Given the description of an element on the screen output the (x, y) to click on. 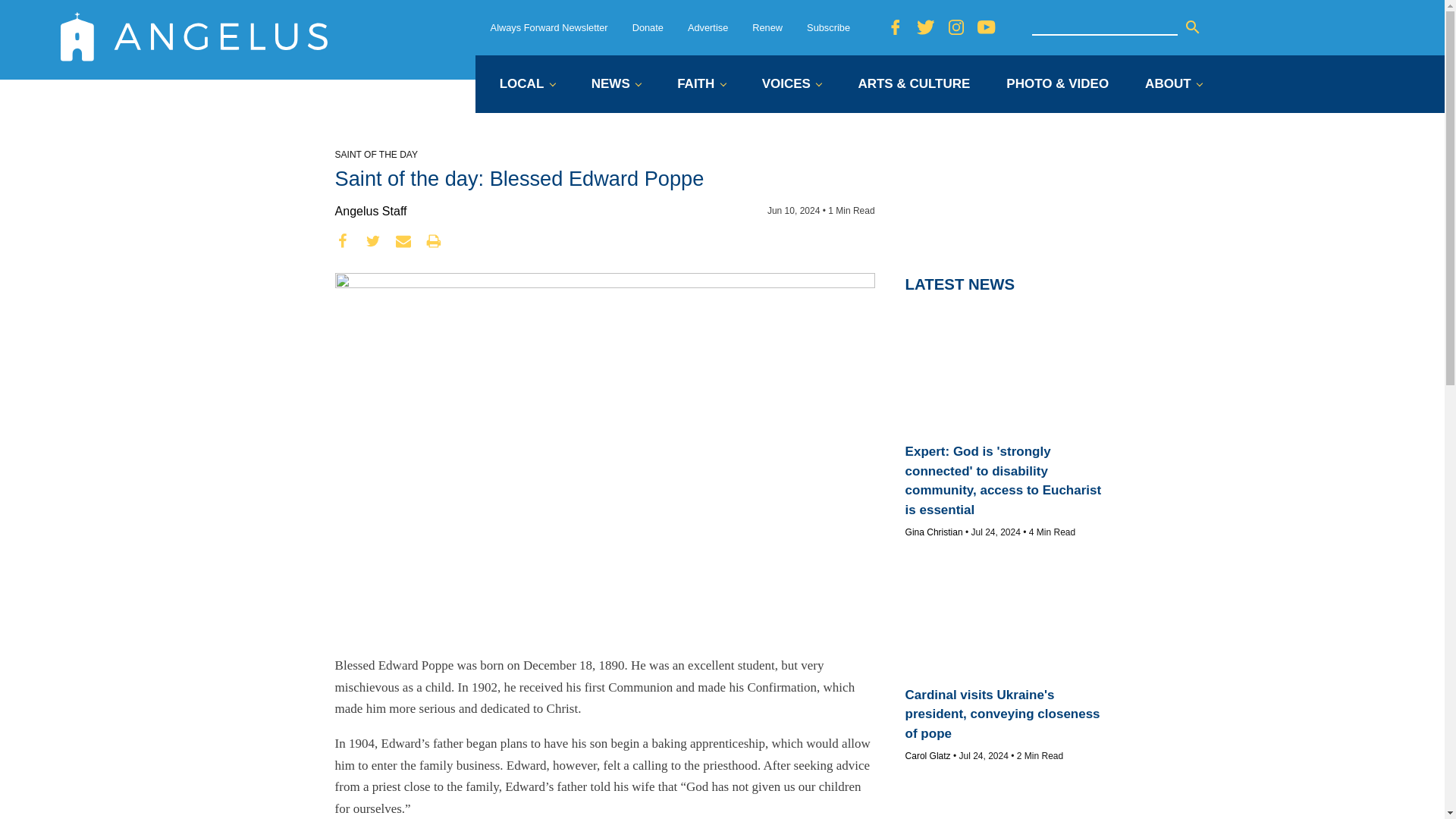
Posts by Gina Christian (933, 532)
Search (1192, 27)
FAITH (701, 84)
print (433, 240)
NEWS (615, 84)
Renew (767, 27)
LOCAL (526, 84)
Posts by Angelus Staff (370, 210)
VOICES (791, 84)
Posts by Carol Glatz (927, 756)
Always Forward Newsletter (549, 27)
Advertise (707, 27)
Subscribe (828, 27)
Donate (647, 27)
ABOUT (1173, 84)
